Given the description of an element on the screen output the (x, y) to click on. 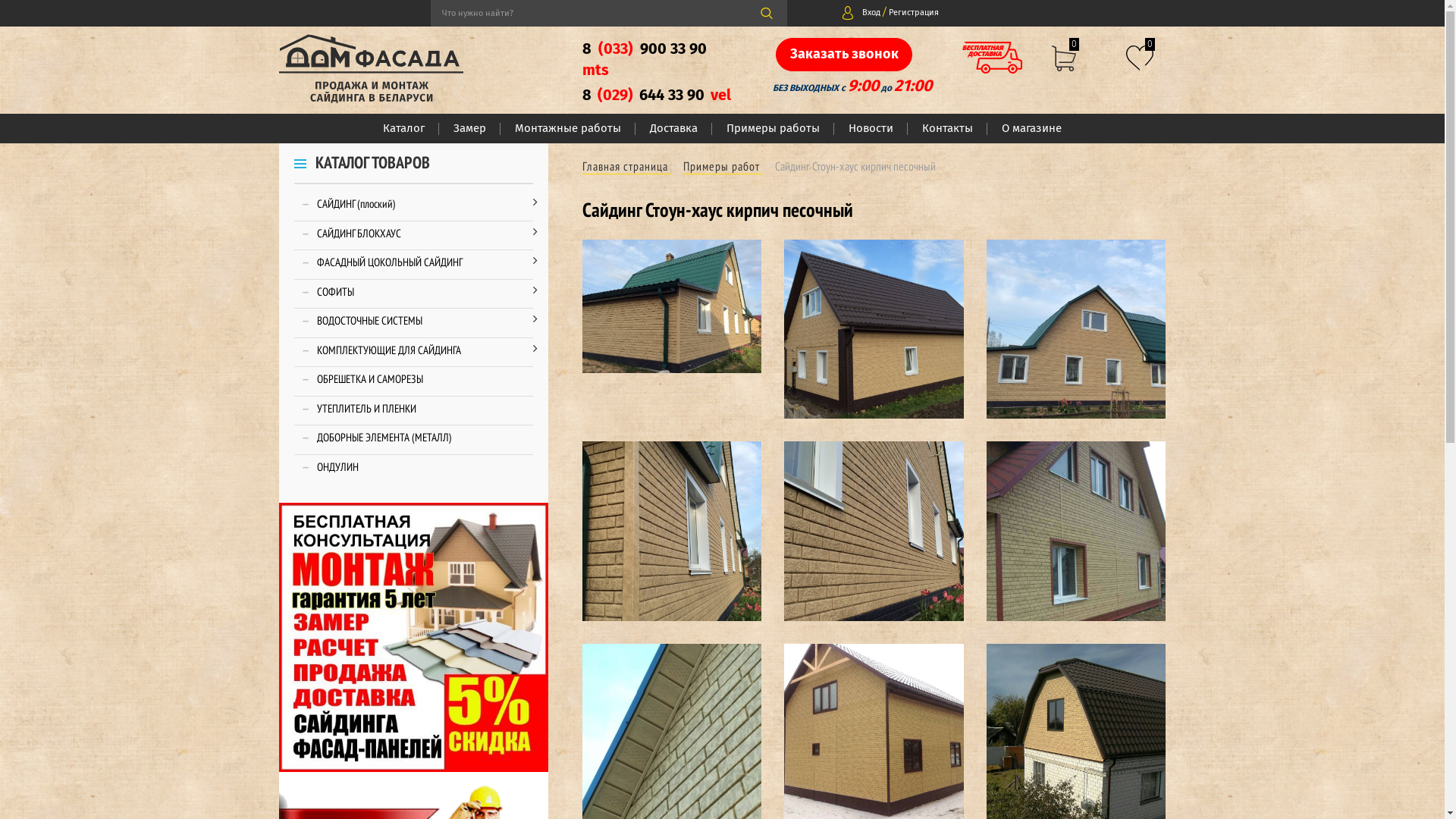
0 Element type: text (1139, 52)
8  (029)  644 33 90  vel Element type: text (658, 109)
0 Element type: text (1063, 52)
8  (033)  900 33 90 mts Element type: text (658, 71)
